Given the description of an element on the screen output the (x, y) to click on. 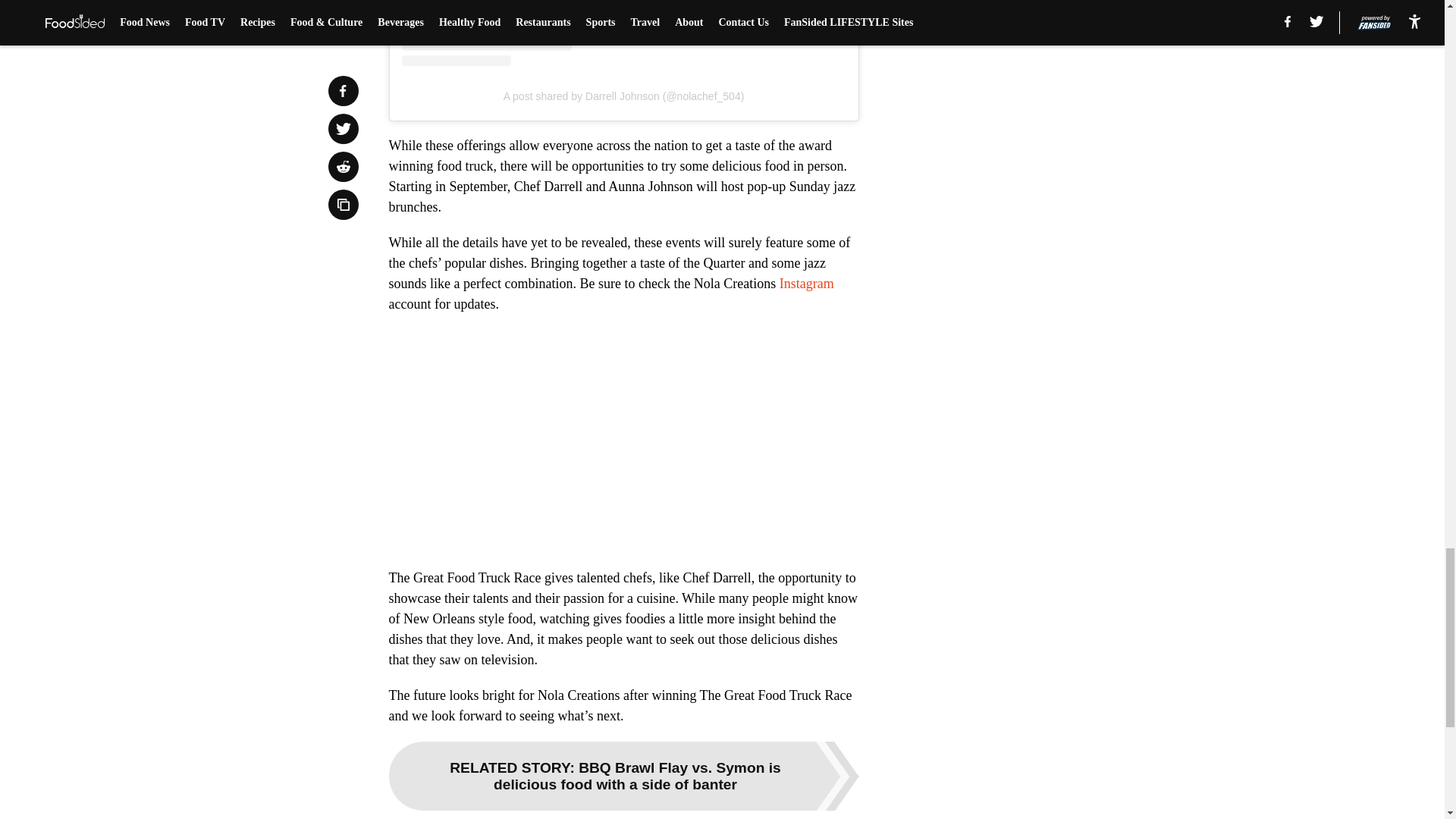
Instagram (806, 283)
View this post on Instagram (623, 33)
